Given the description of an element on the screen output the (x, y) to click on. 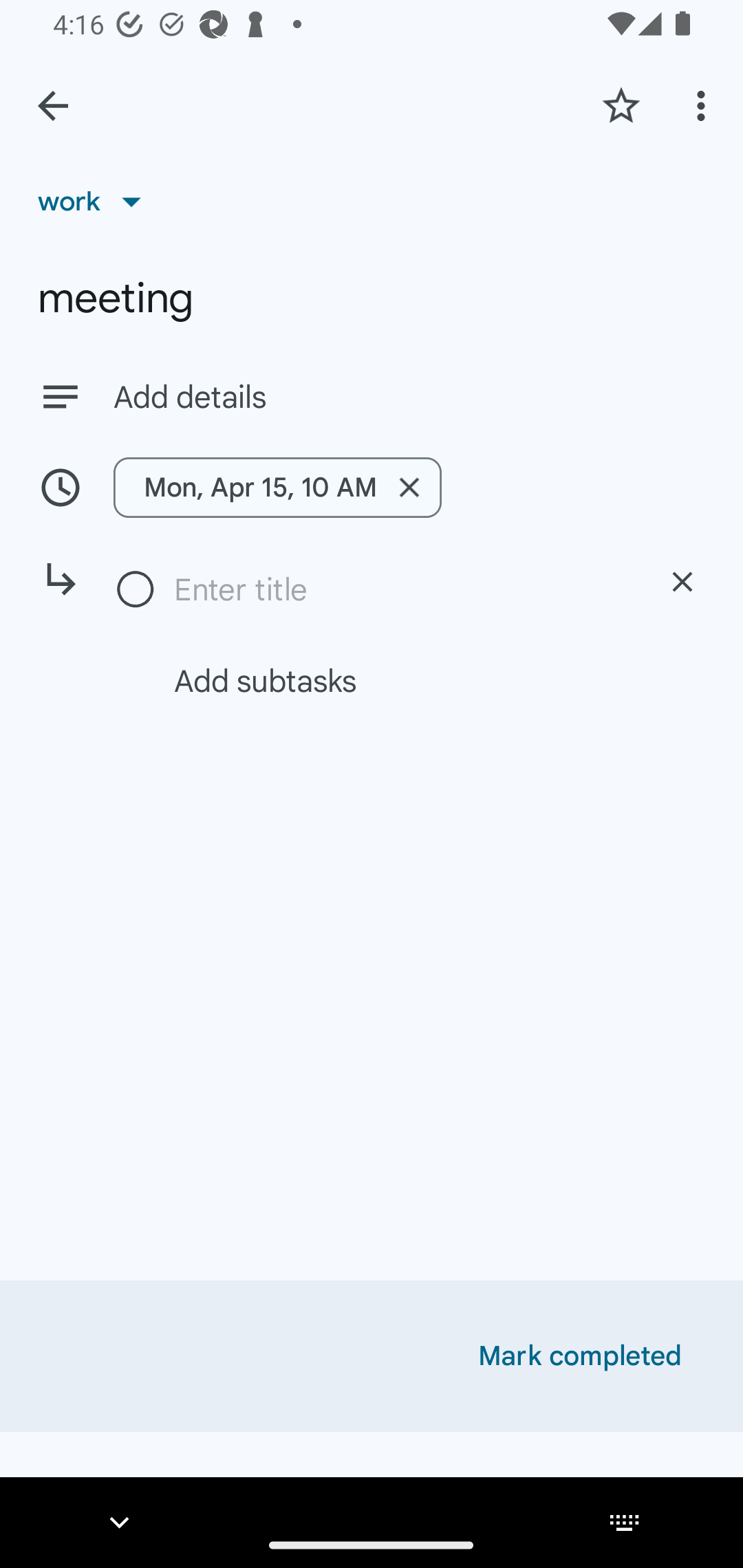
Back (53, 105)
Add star (620, 105)
More options (704, 105)
work List, work selected, 1 of 23 (95, 201)
meeting (371, 298)
Add details (371, 396)
Add details (409, 397)
Mon, Apr 15, 10 AM Remove date/time (371, 487)
Mon, Apr 15, 10 AM Remove date/time (277, 487)
Enter title (401, 589)
Delete subtask (682, 581)
Mark as complete (136, 590)
Add subtasks (394, 680)
Mark completed (580, 1355)
